Given the description of an element on the screen output the (x, y) to click on. 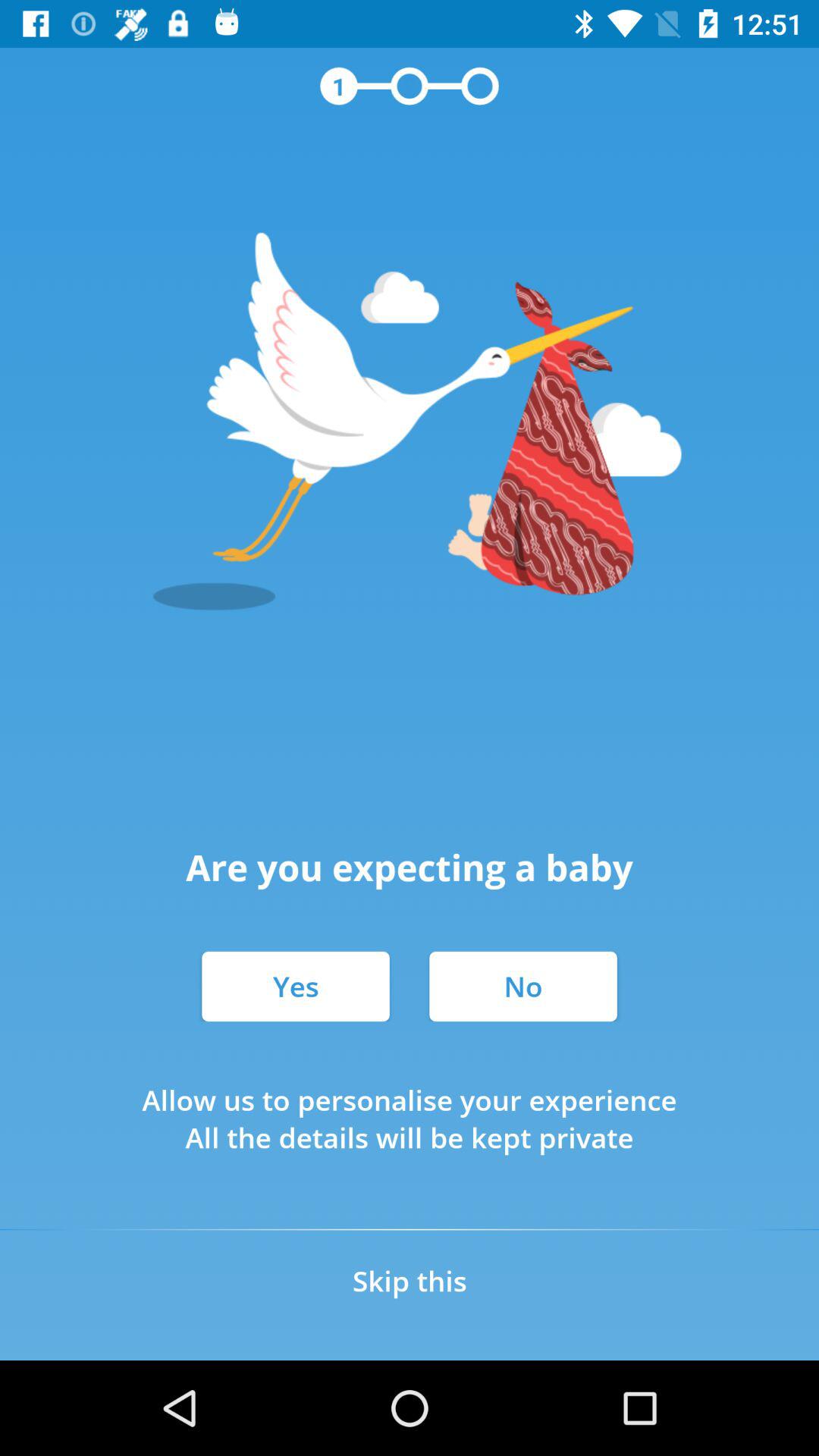
tap the item next to no (295, 986)
